Given the description of an element on the screen output the (x, y) to click on. 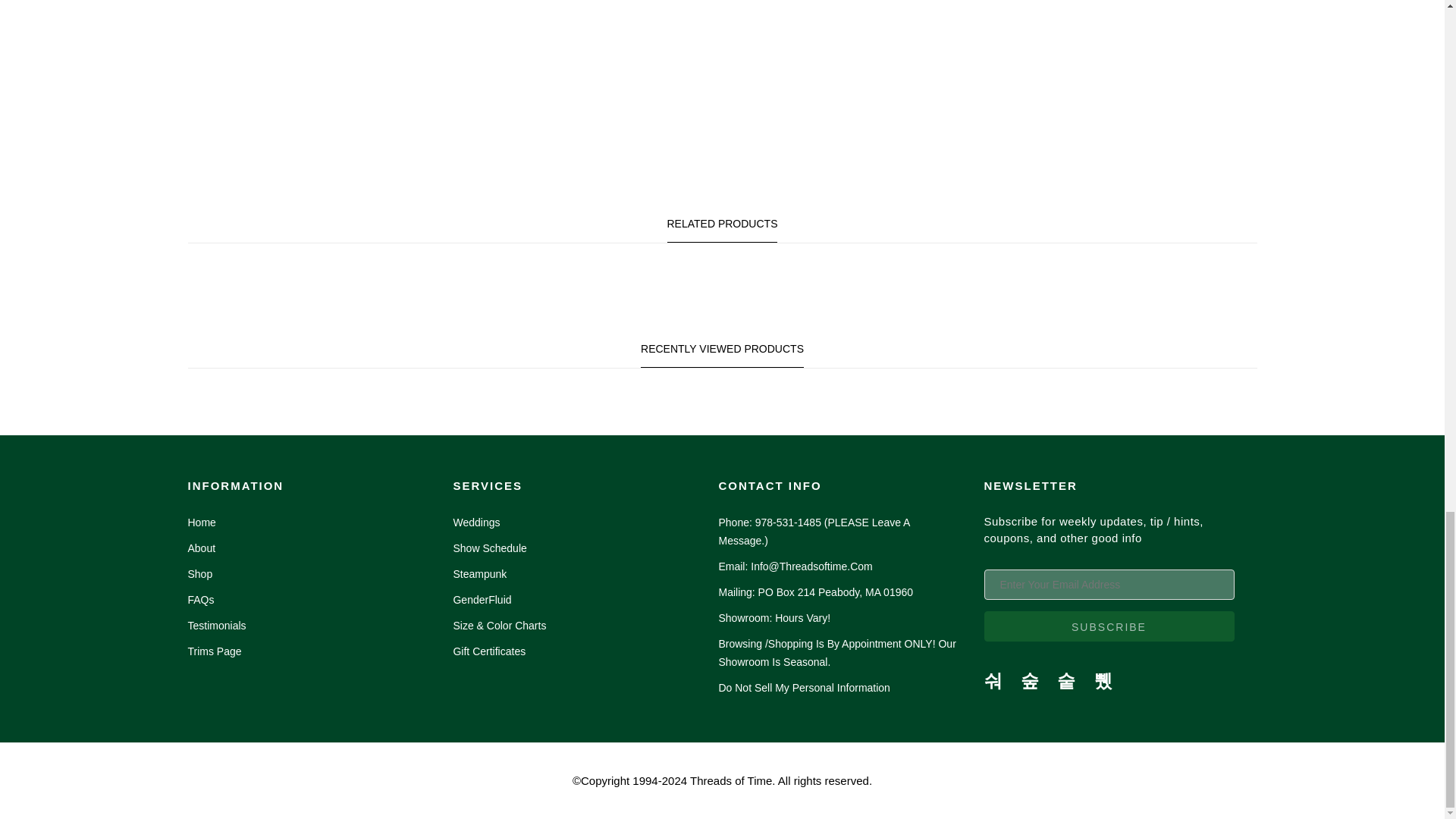
subscribe (1109, 625)
YouTube video player (428, 72)
